Given the description of an element on the screen output the (x, y) to click on. 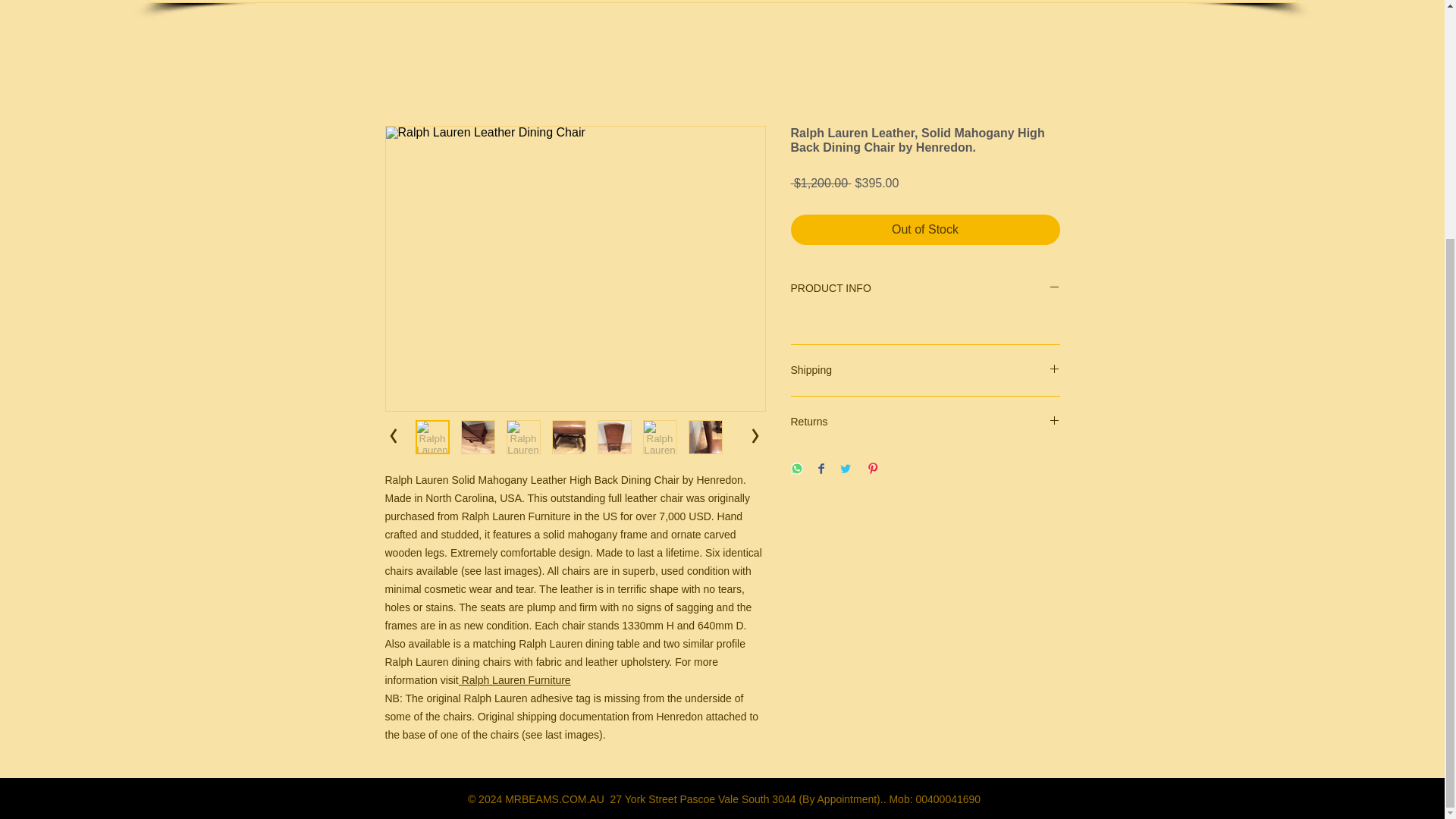
Out of Stock (924, 229)
Returns (924, 421)
Ralph Lauren Furniture (514, 680)
Shipping (924, 370)
PRODUCT INFO (924, 288)
